Given the description of an element on the screen output the (x, y) to click on. 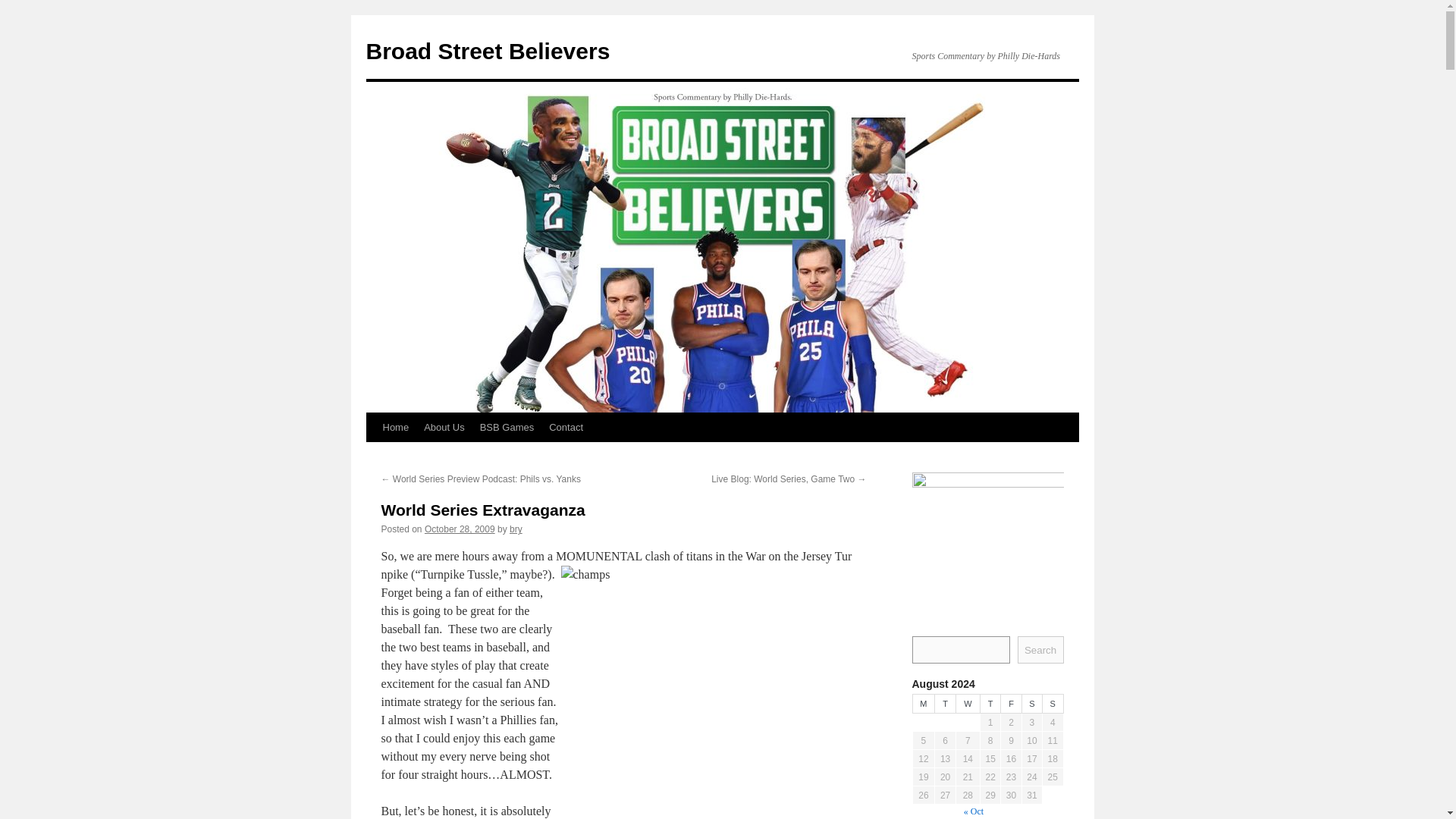
Saturday (1032, 703)
bry (515, 529)
Sunday (1052, 703)
Tuesday (944, 703)
Contact (566, 427)
Thursday (989, 703)
Monday (923, 703)
Friday (1011, 703)
Home (395, 427)
3:02 pm (460, 529)
